Given the description of an element on the screen output the (x, y) to click on. 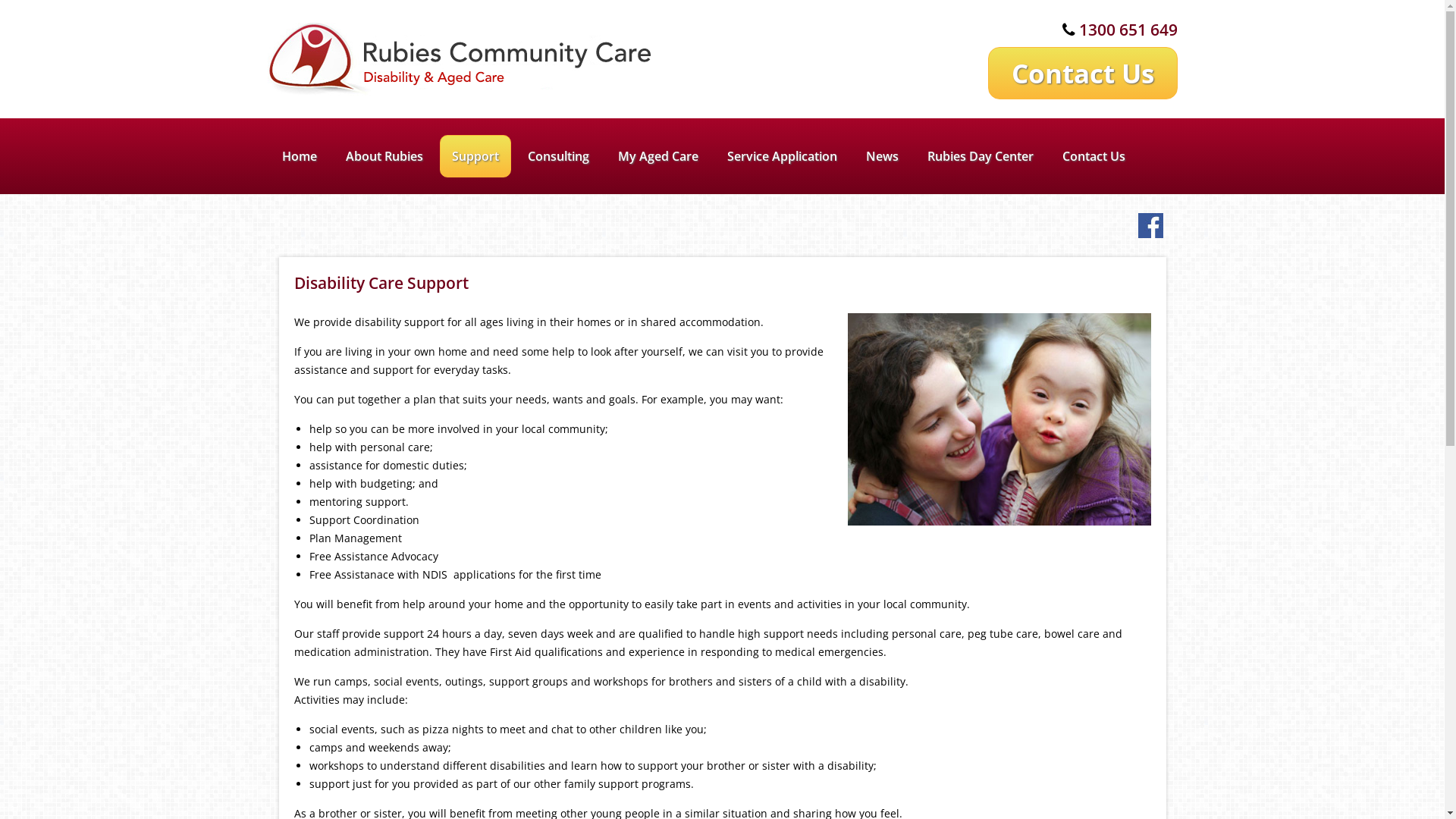
Home Element type: text (298, 155)
Contact Us Element type: text (1093, 155)
News Element type: text (881, 155)
1300 651 649 Element type: text (1127, 29)
Contact Us Element type: text (1081, 73)
Rubies Day Center Element type: text (980, 155)
Contact Us Element type: text (1081, 70)
My Aged Care Element type: text (657, 155)
Support Element type: text (474, 155)
Service Application Element type: text (781, 155)
About Rubies Element type: text (383, 155)
Consulting Element type: text (557, 155)
